Given the description of an element on the screen output the (x, y) to click on. 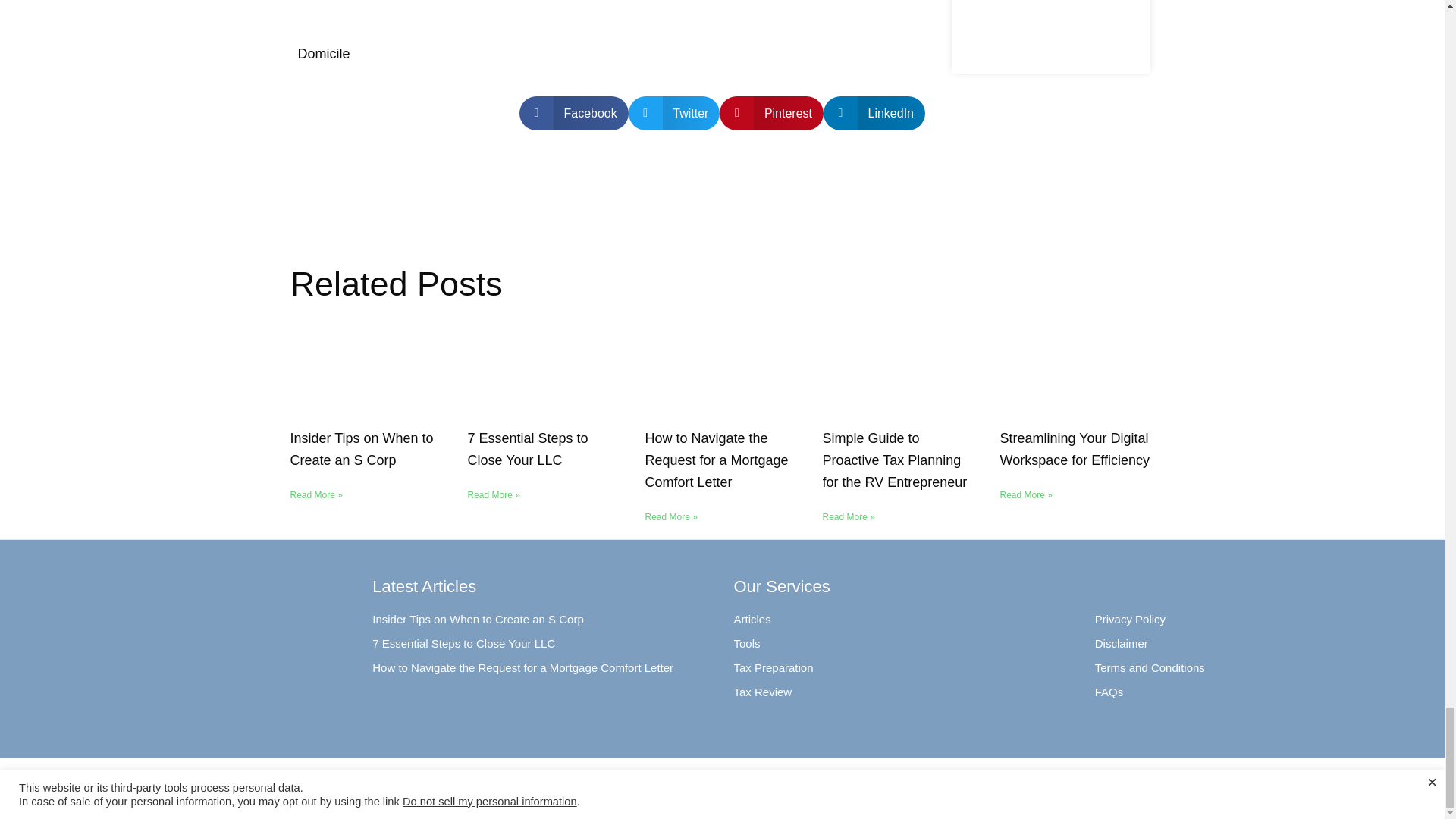
YouTube (1379, 784)
Facebook (1303, 784)
LinkedIn (1417, 784)
Top Considerations When Choosing Your Domicile State (524, 21)
Pinterest (1341, 784)
Page 25 (599, 33)
